Given the description of an element on the screen output the (x, y) to click on. 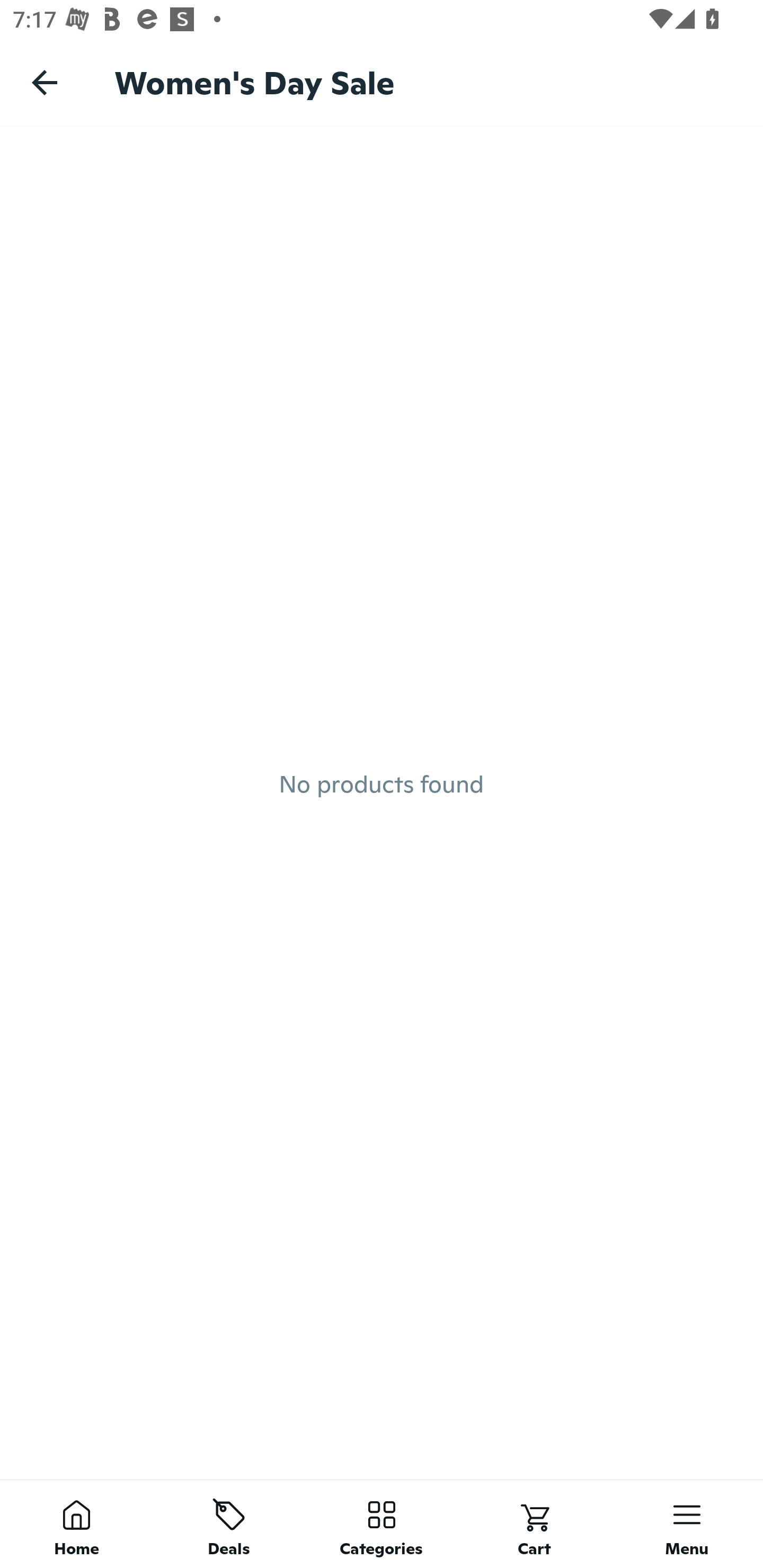
Navigate up (44, 82)
Home (76, 1523)
Deals (228, 1523)
Categories (381, 1523)
Cart (533, 1523)
Menu (686, 1523)
